Given the description of an element on the screen output the (x, y) to click on. 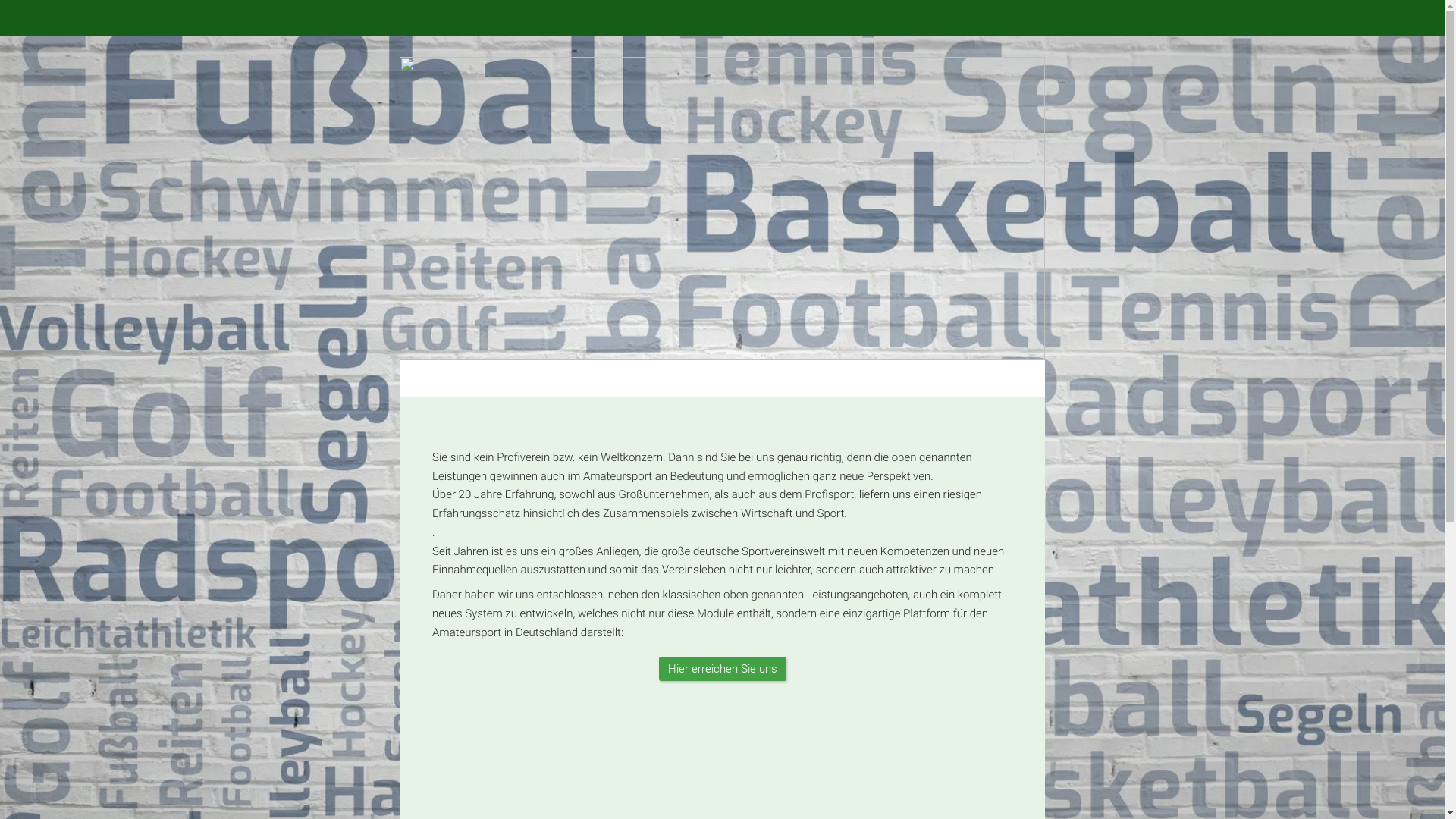
Hier erreichen Sie uns Element type: text (721, 668)
